Given the description of an element on the screen output the (x, y) to click on. 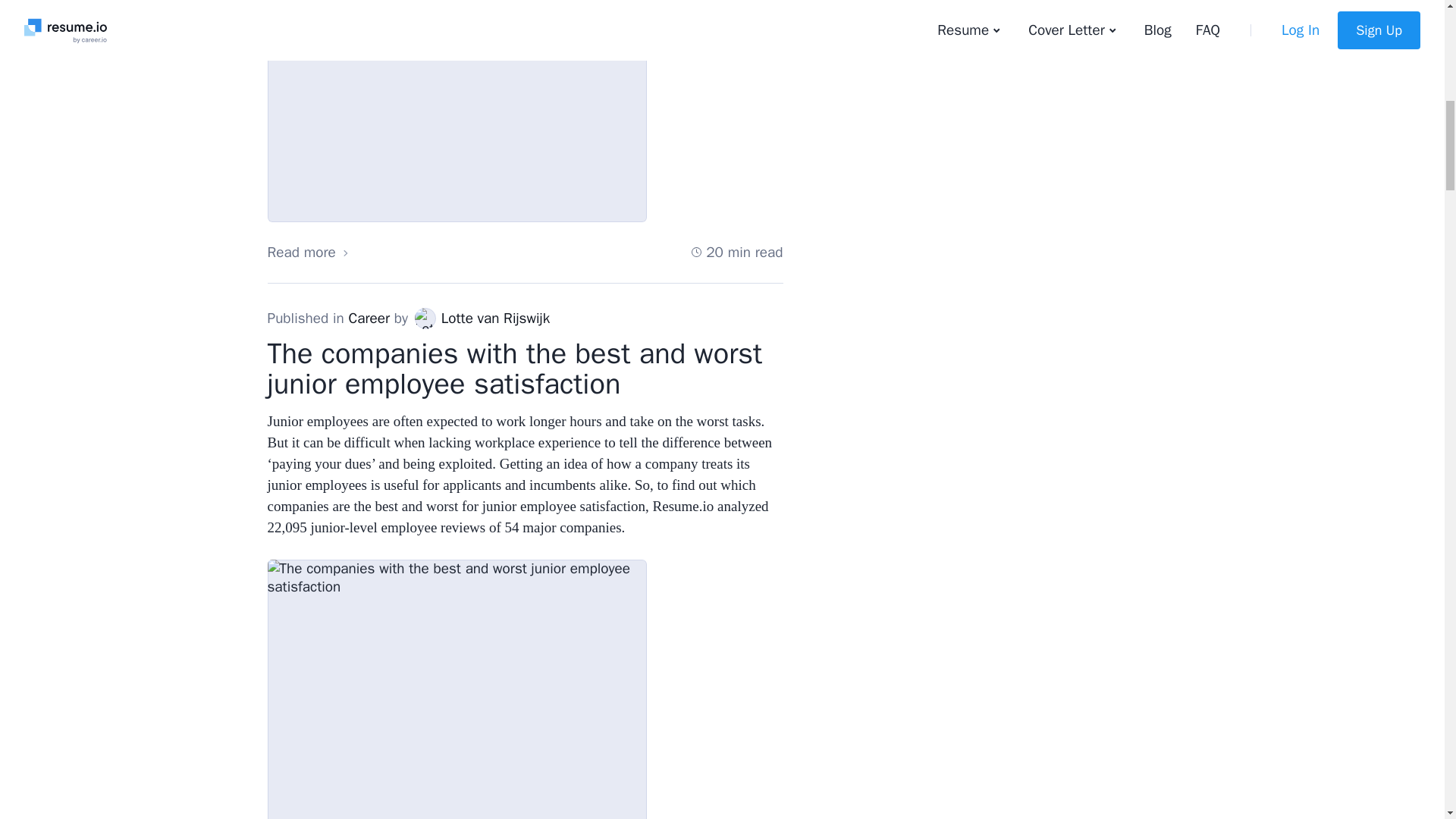
Lotte van Rijswijk (424, 318)
The best and worst tech giants to interview for in 2024 (456, 110)
